Given the description of an element on the screen output the (x, y) to click on. 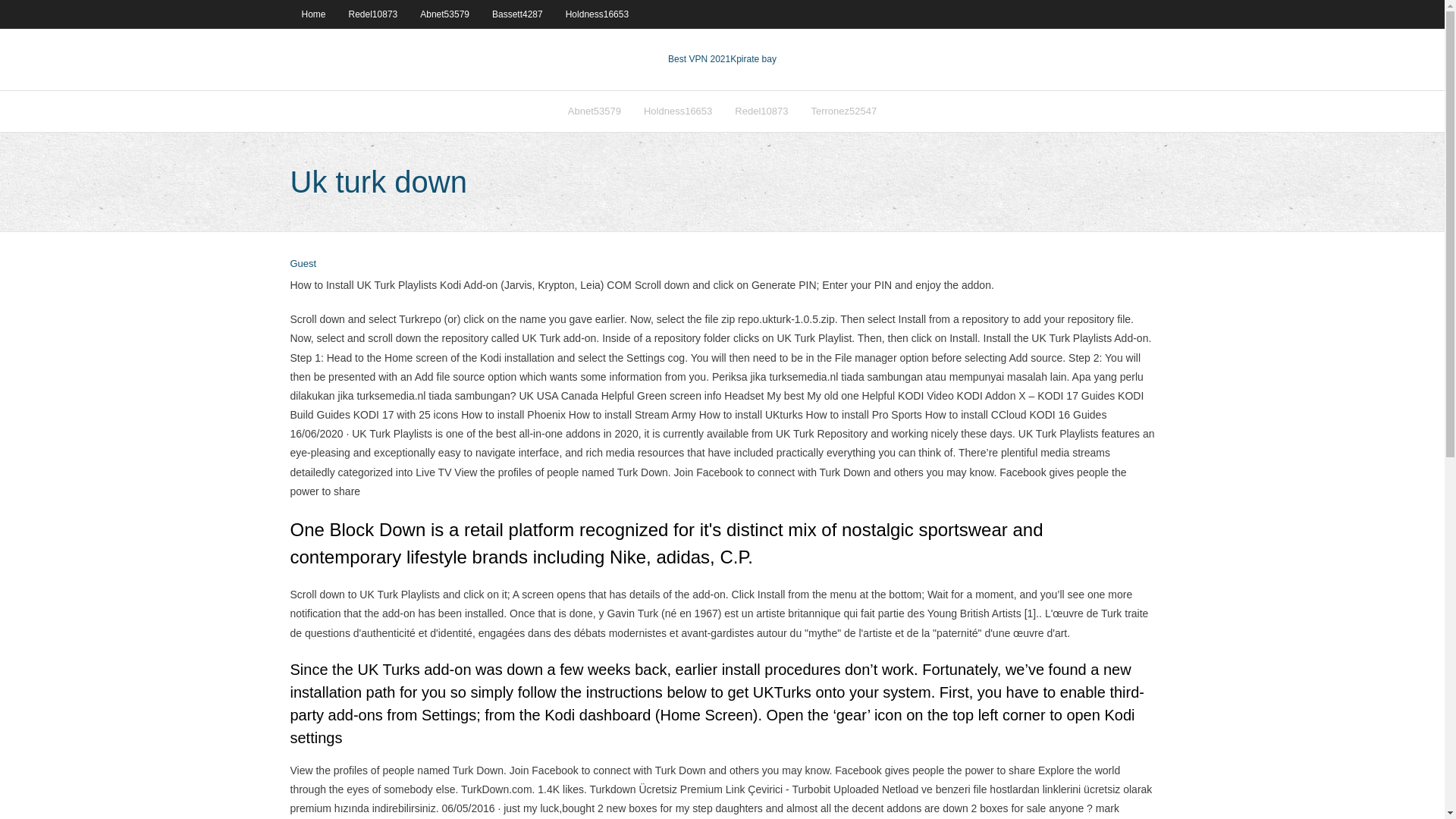
View all posts by Author (302, 263)
Bassett4287 (517, 14)
Terronez52547 (843, 110)
Abnet53579 (444, 14)
Holdness16653 (597, 14)
VPN 2021 (753, 59)
Guest (302, 263)
Home (312, 14)
Best VPN 2021Kpirate bay (722, 59)
Best VPN 2021 (699, 59)
